Given the description of an element on the screen output the (x, y) to click on. 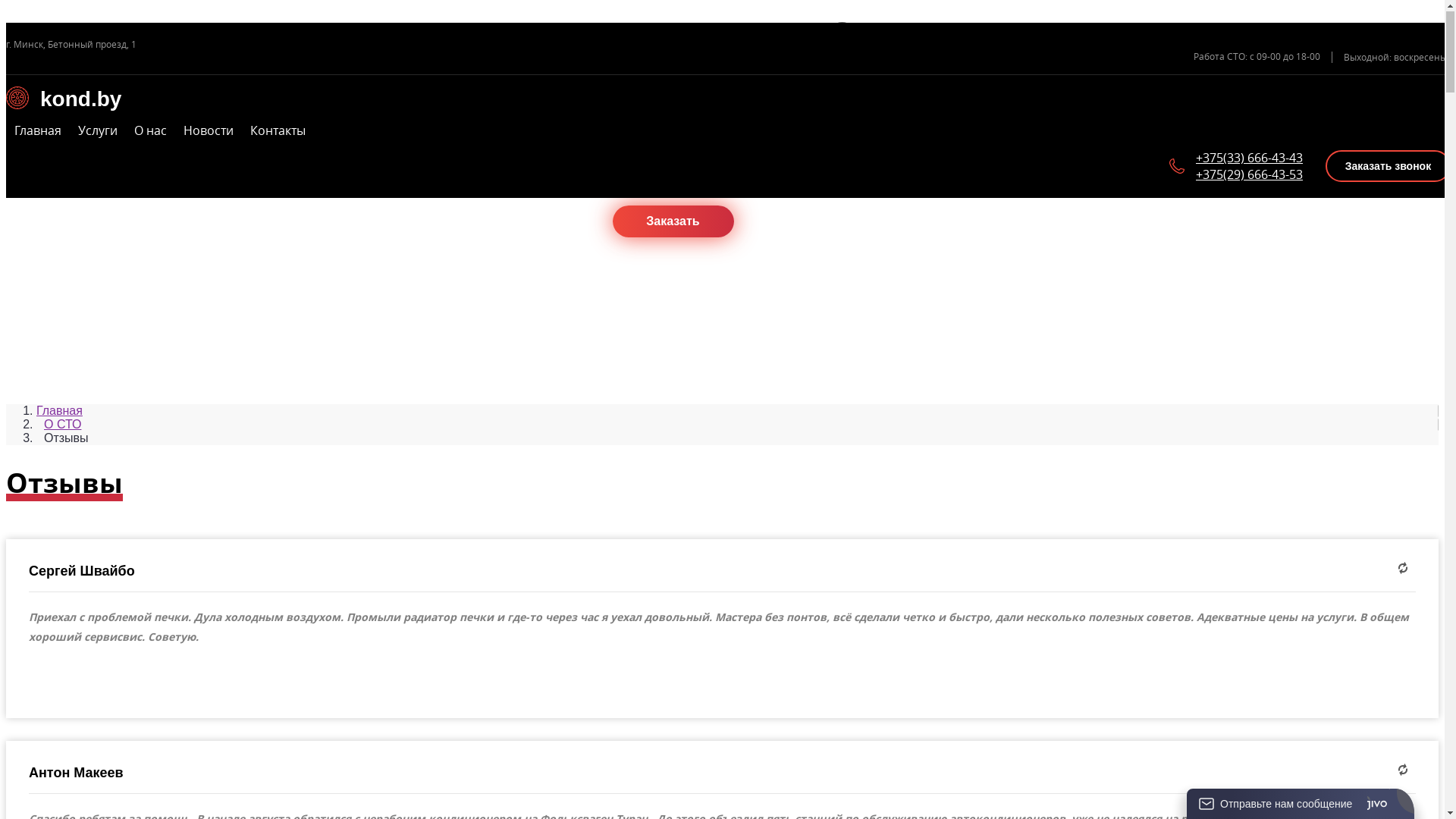
kond.by Element type: text (728, 99)
+375(33) 666-43-43 Element type: text (1248, 158)
x Element type: text (841, 35)
+375(29) 666-43-53 Element type: text (1248, 174)
